Given the description of an element on the screen output the (x, y) to click on. 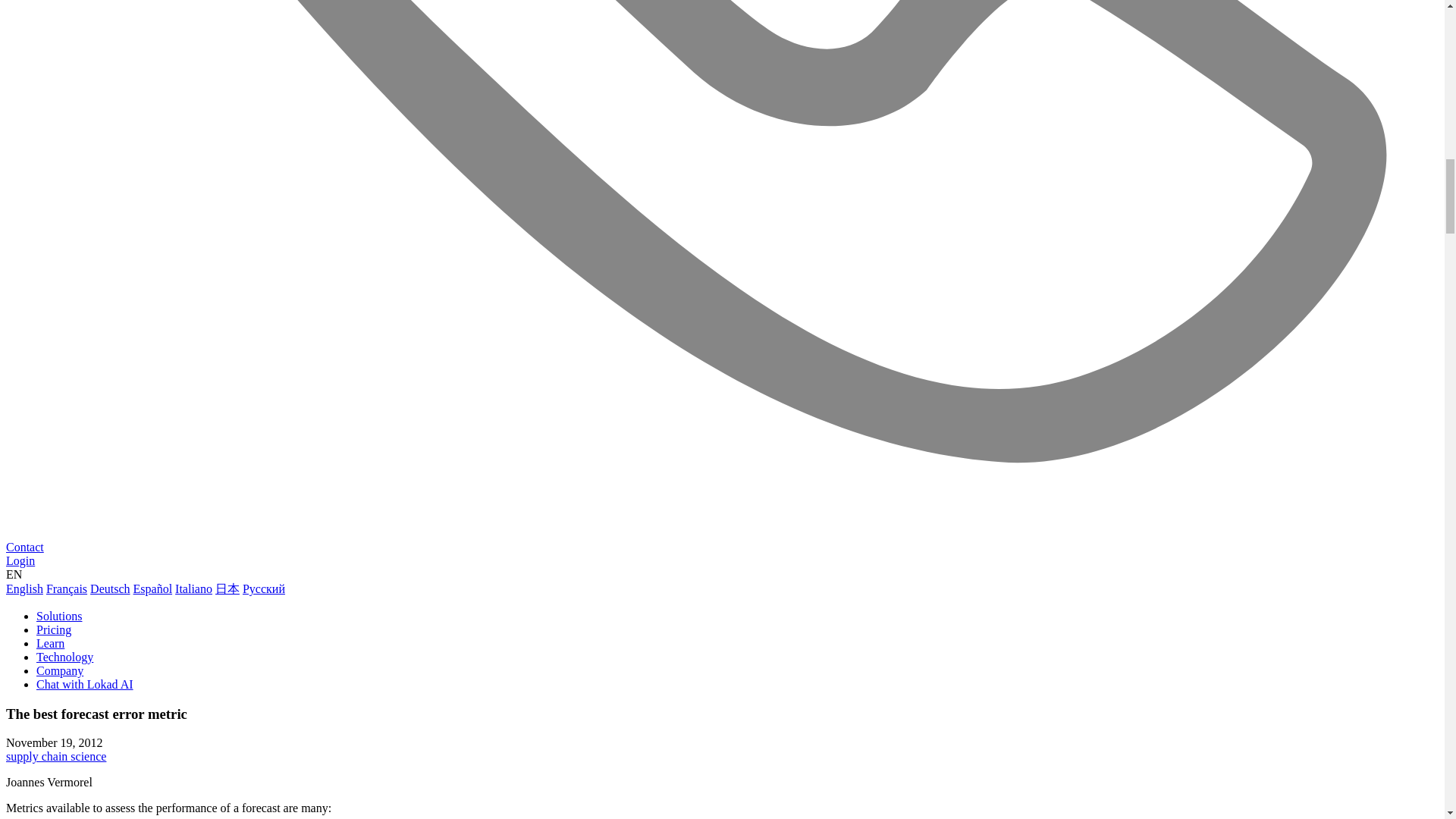
Pricing (53, 629)
Chat with Lokad AI (84, 684)
Solutions (58, 615)
Company (59, 670)
Technology (64, 656)
Italiano (193, 588)
Login (19, 560)
English (24, 588)
supply chain science (55, 756)
Learn (50, 643)
